Given the description of an element on the screen output the (x, y) to click on. 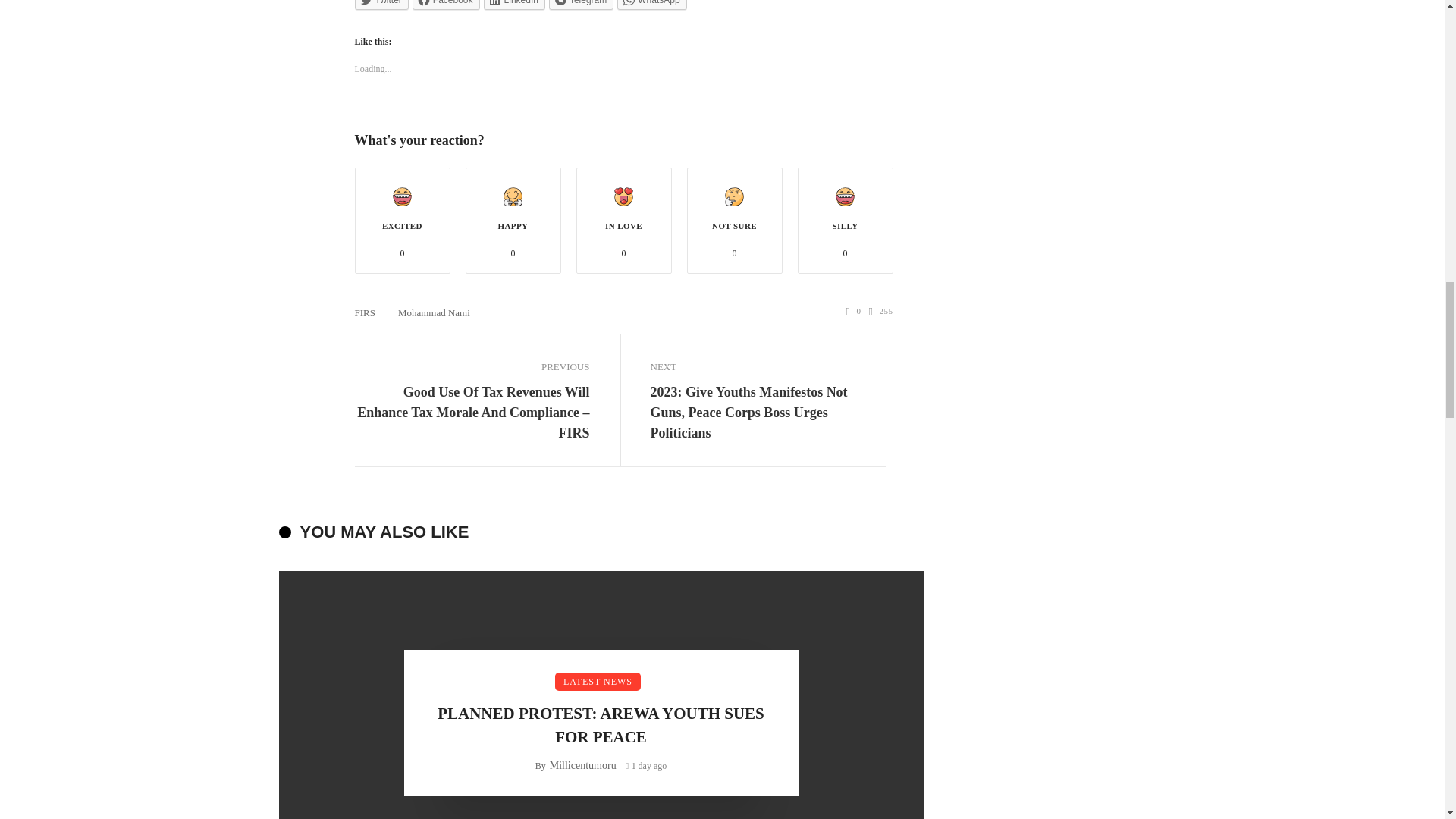
FIRS (365, 312)
Facebook (446, 4)
PREVIOUS (472, 366)
Mohammad Nami (433, 312)
LinkedIn (513, 4)
Click to share on Twitter (382, 4)
0 Comments (853, 310)
Click to share on LinkedIn (513, 4)
NEXT (767, 366)
Click to share on WhatsApp (651, 4)
WhatsApp (651, 4)
LATEST NEWS (597, 681)
Click to share on Facebook (446, 4)
Telegram (580, 4)
